Given the description of an element on the screen output the (x, y) to click on. 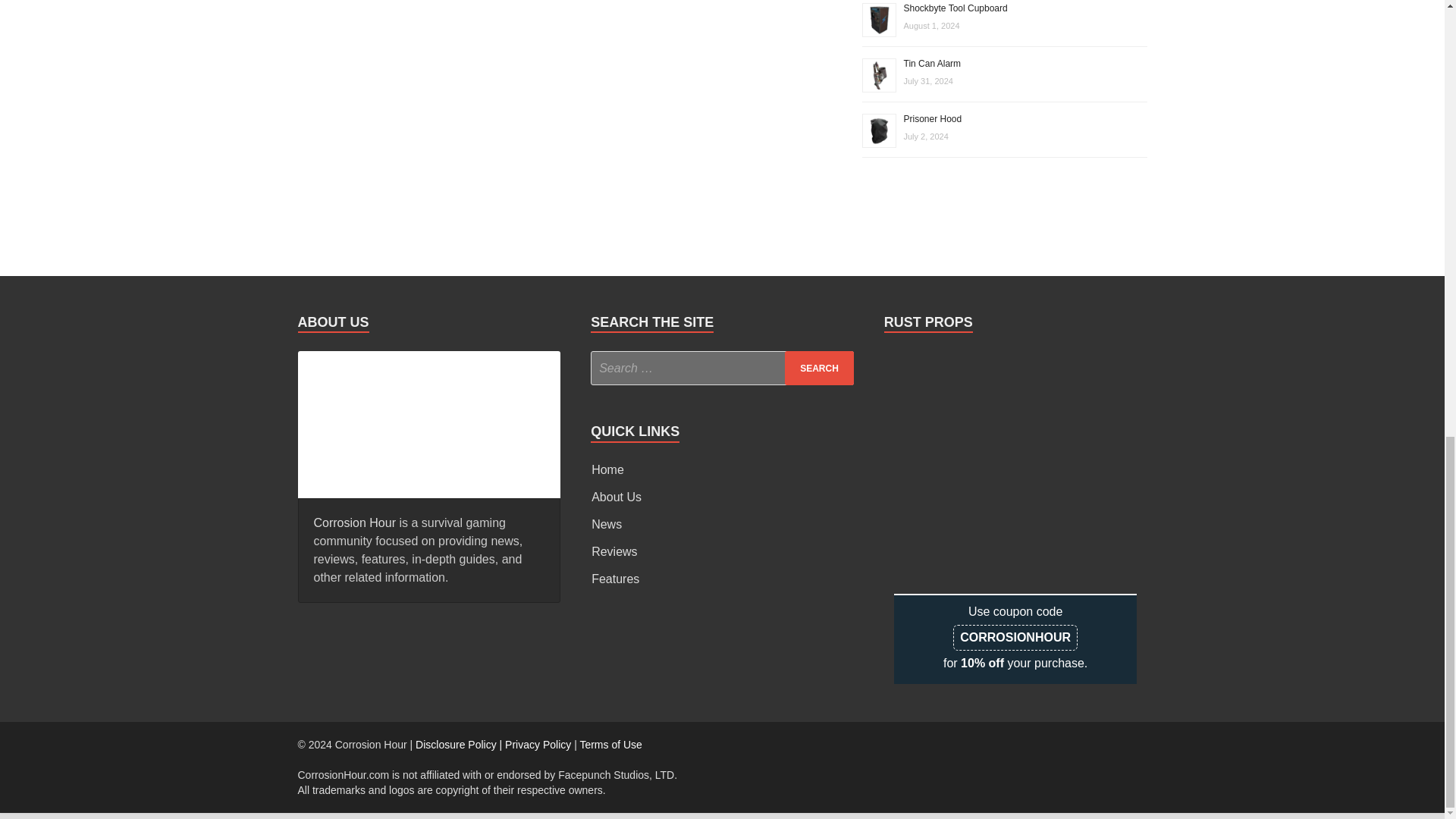
Search (818, 367)
CorrosionHour (428, 421)
Search (818, 367)
